Given the description of an element on the screen output the (x, y) to click on. 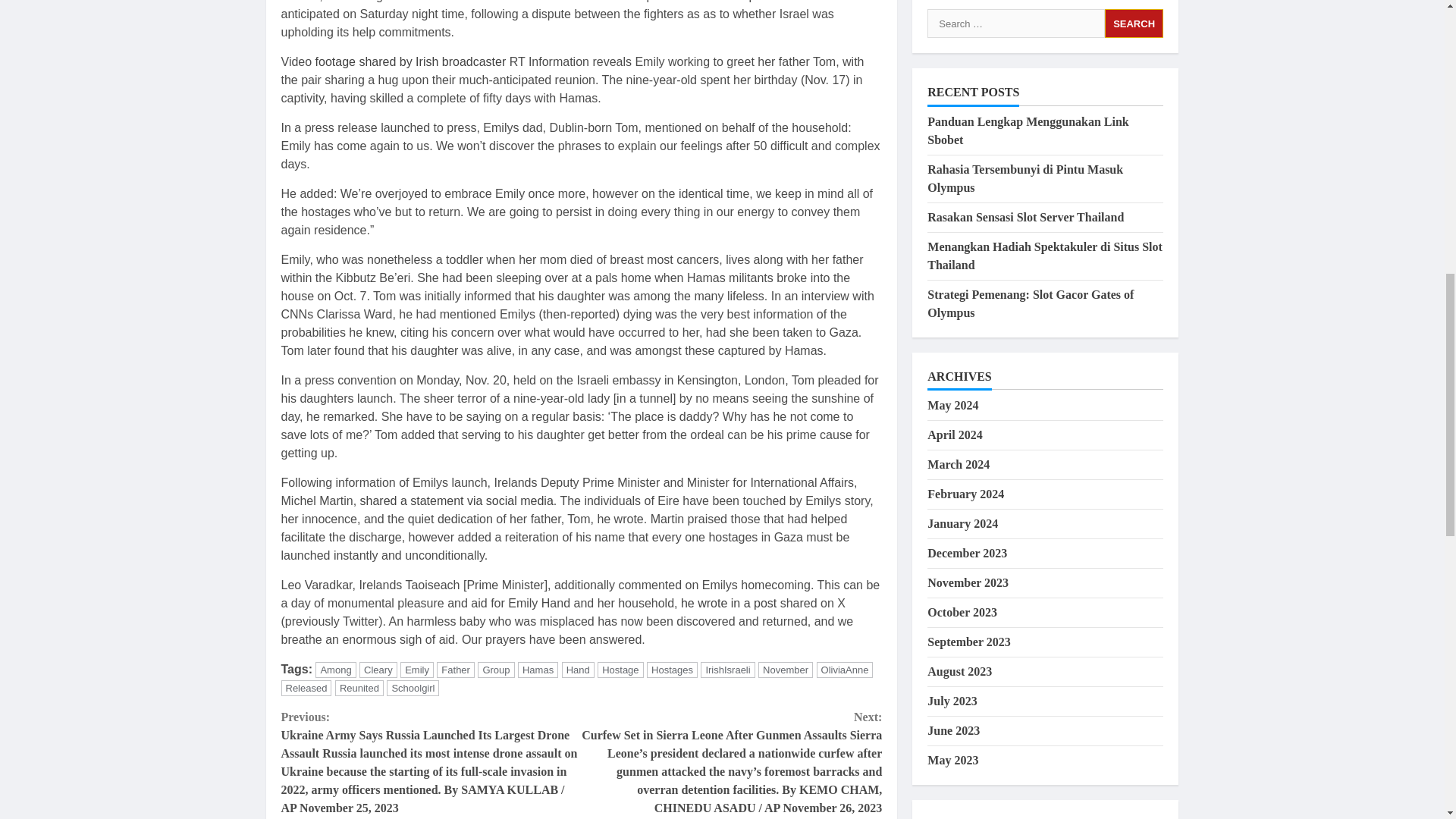
Father (455, 669)
Emily (416, 669)
OliviaAnne (844, 669)
Among (335, 669)
November (785, 669)
Hand (578, 669)
Cleary (378, 669)
Hostages (671, 669)
IrishIsraeli (727, 669)
shared a statement via social media (456, 500)
footage shared by Irish broadcaster (410, 61)
he wrote in a post (728, 603)
Hostage (619, 669)
Hamas (537, 669)
Group (495, 669)
